Given the description of an element on the screen output the (x, y) to click on. 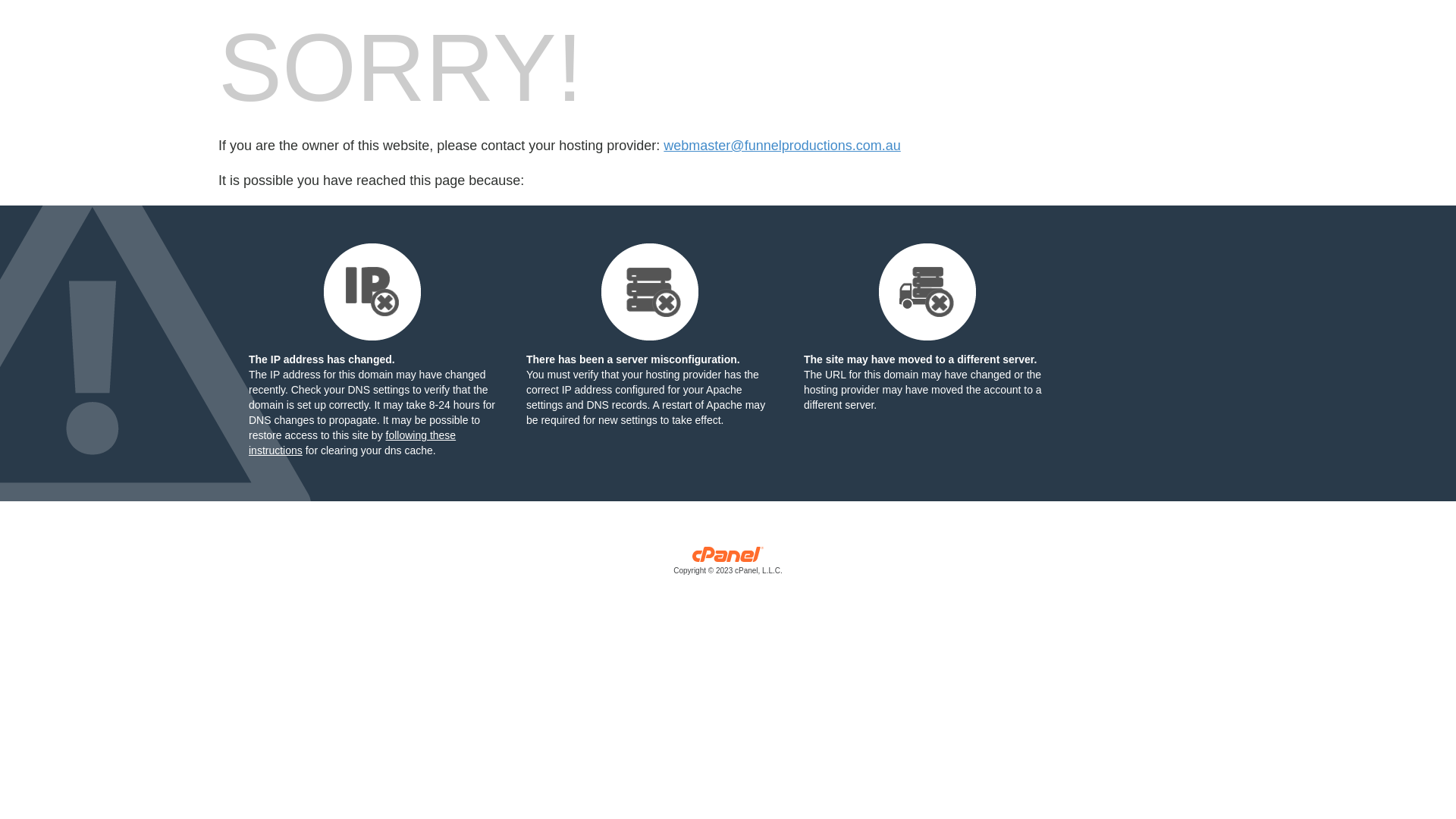
following these instructions Element type: text (351, 442)
webmaster@funnelproductions.com.au Element type: text (781, 145)
